Given the description of an element on the screen output the (x, y) to click on. 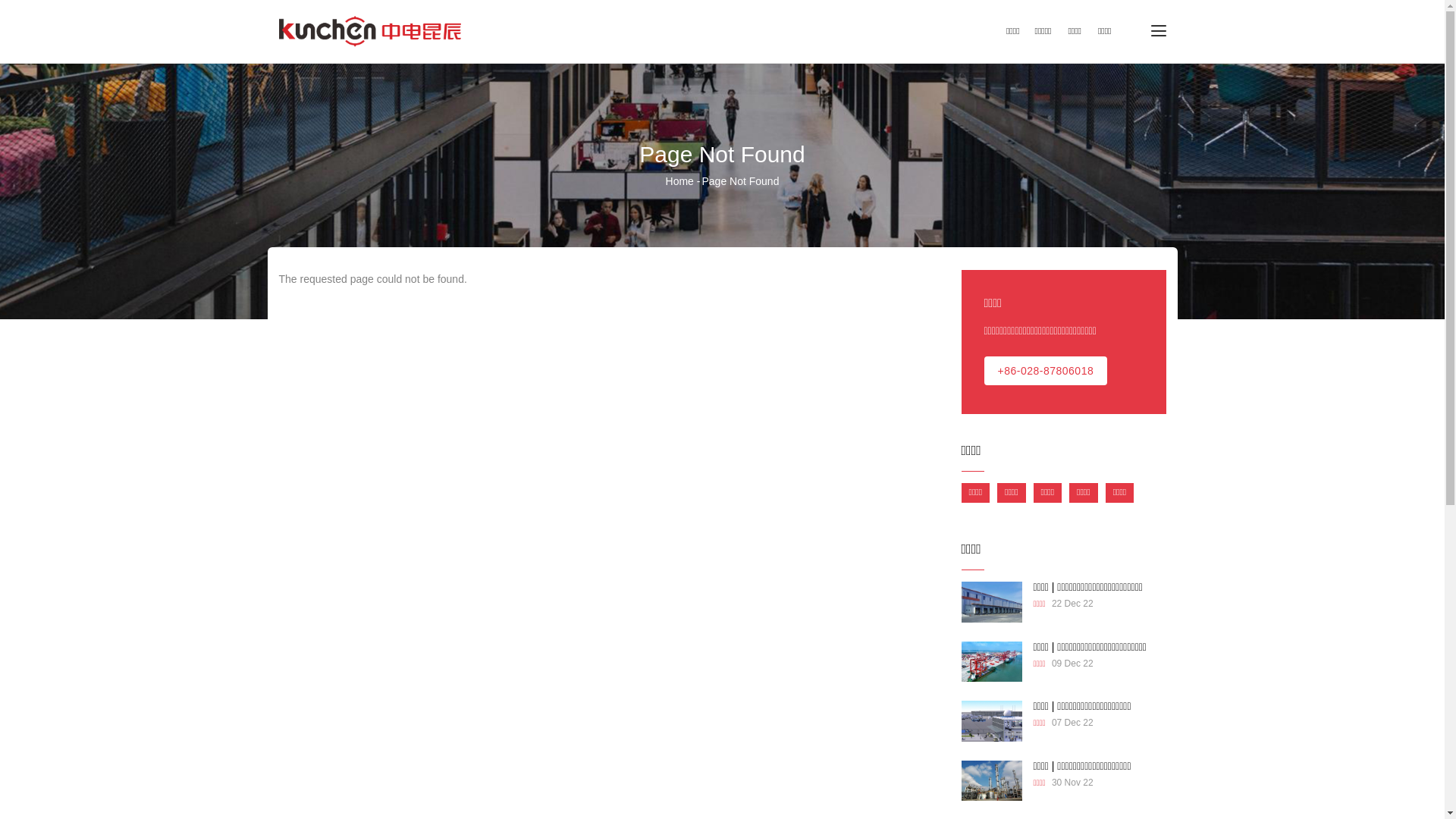
+86-028-87806018 Element type: text (1045, 370)
Home Element type: hover (370, 28)
Skip to main content Element type: text (0, 0)
Home Element type: text (679, 181)
